Given the description of an element on the screen output the (x, y) to click on. 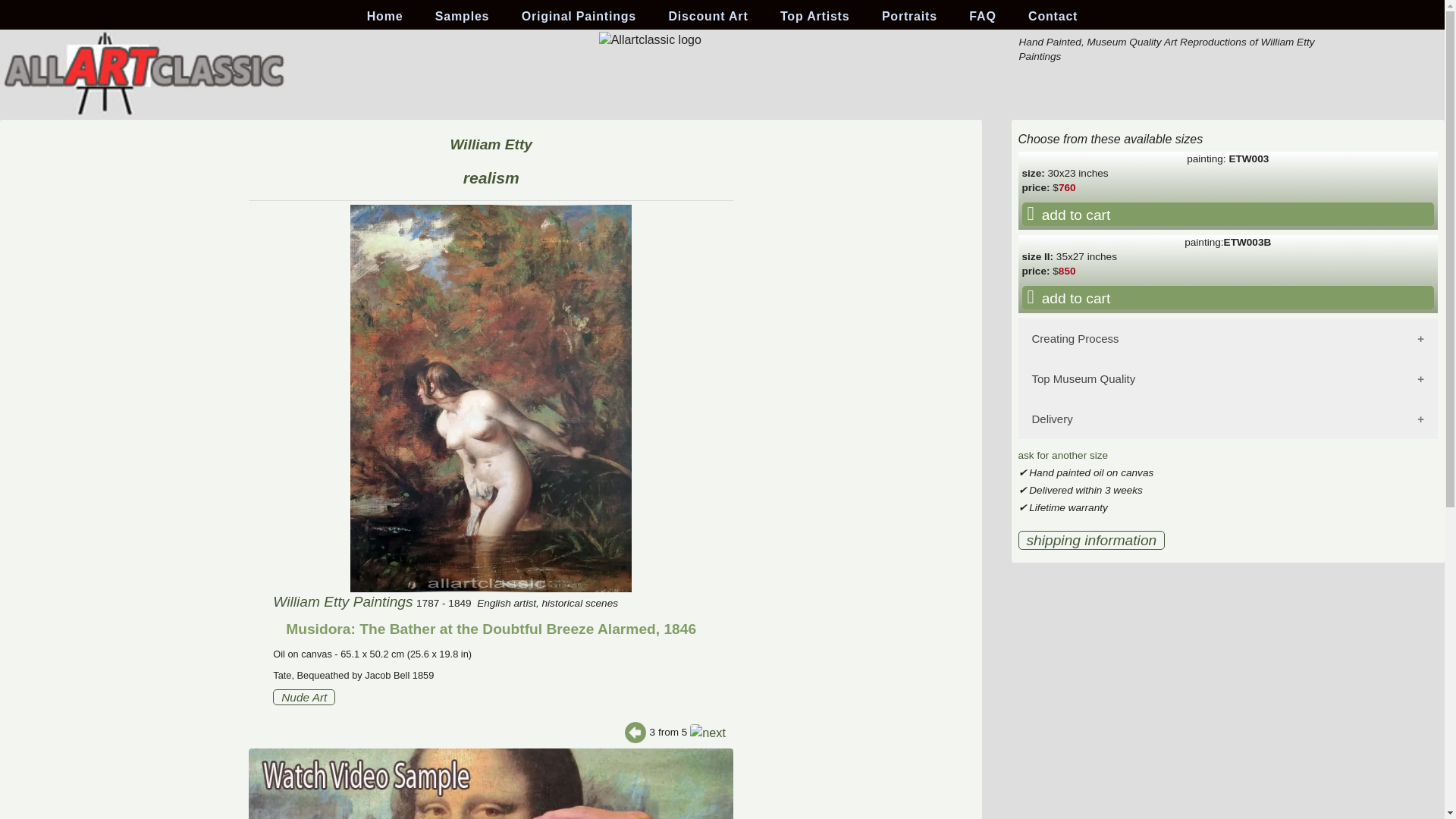
William Etty Paintings (342, 601)
Samples (461, 17)
Top Artists (815, 17)
Original Paintings (578, 17)
Discount Art (708, 17)
Video sample showing the quality of our product (490, 783)
Nude Art (303, 697)
Contact (1052, 17)
Portraits (909, 17)
Home (385, 17)
FAQ (981, 17)
realism (491, 177)
William Etty (490, 144)
